Given the description of an element on the screen output the (x, y) to click on. 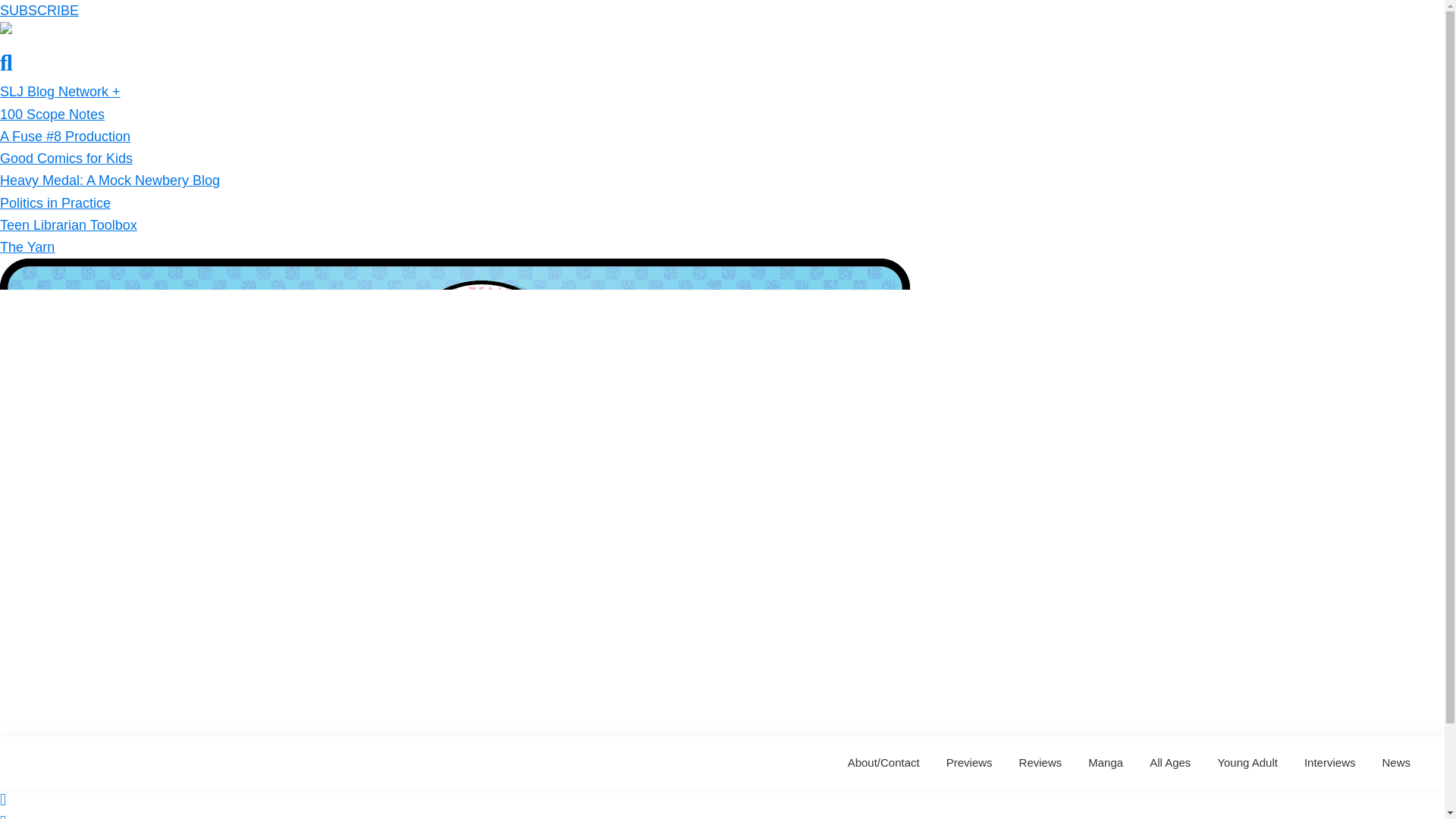
Interviews (1329, 762)
Good Comics for Kids (66, 158)
100 Scope Notes (52, 113)
SUBSCRIBE (39, 10)
Young Adult (1246, 762)
News (1396, 762)
All Ages (1170, 762)
Teen Librarian Toolbox (68, 224)
Previews (969, 762)
Reviews (1040, 762)
Manga (1105, 762)
The Yarn (27, 246)
Politics in Practice (55, 202)
Heavy Medal: A Mock Newbery Blog (109, 180)
